Given the description of an element on the screen output the (x, y) to click on. 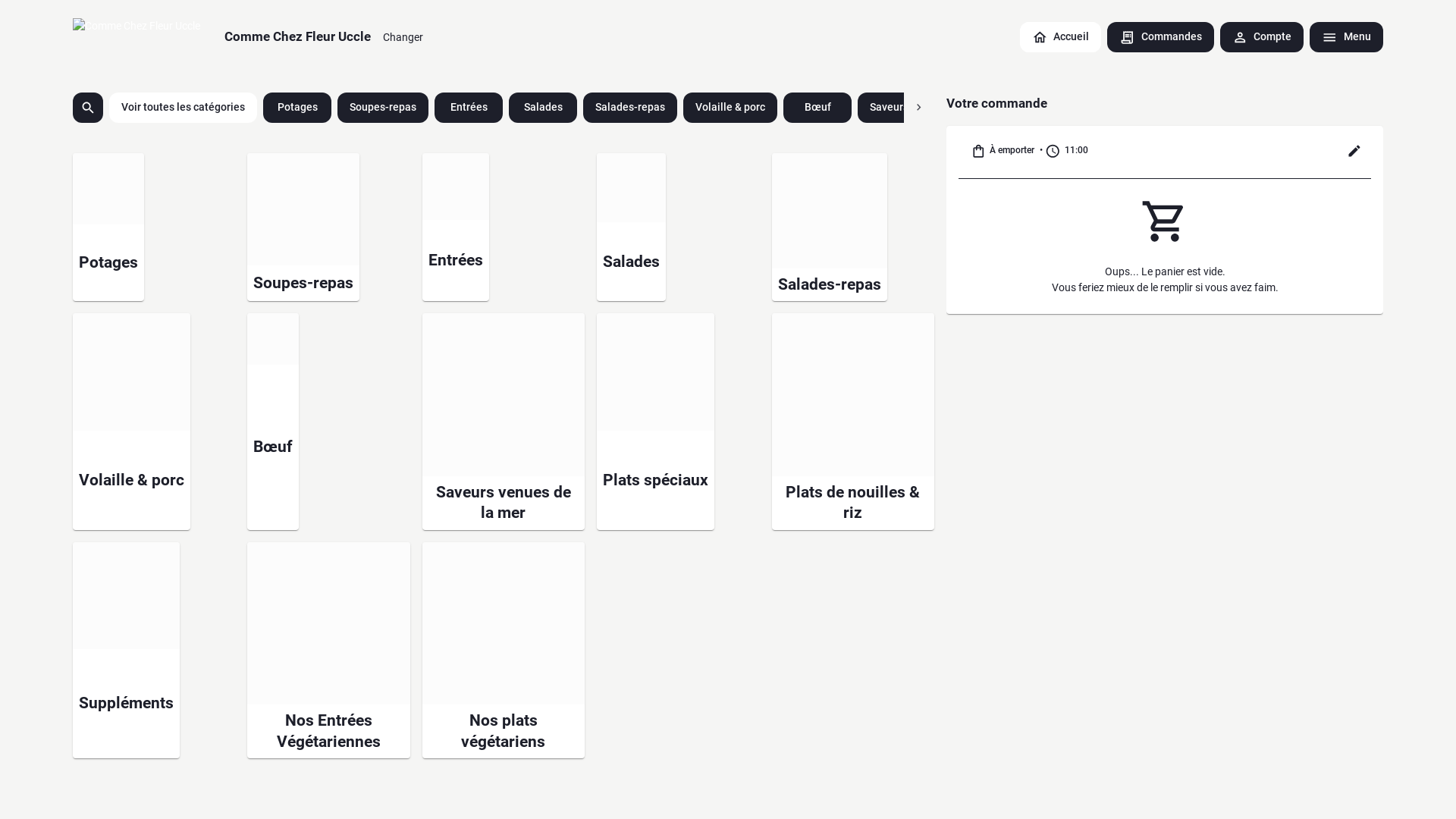
Plats de nouilles & riz Element type: text (852, 421)
Compte Element type: text (1262, 36)
pickup Element type: text (552, 338)
Saveurs venues de la mer Element type: text (930, 107)
delivery Element type: text (616, 338)
Plats de nouilles & riz Element type: text (1175, 107)
Salades-repas Element type: text (630, 107)
Accueil Element type: text (1060, 36)
Volaille & porc Element type: text (131, 421)
Changer Element type: text (402, 37)
Potages Element type: text (297, 107)
Soupes-repas Element type: text (303, 227)
asap Element type: text (553, 460)
Soupes-repas Element type: text (382, 107)
tomorrow Element type: text (613, 419)
Salades Element type: text (630, 227)
today Element type: text (553, 419)
pick Element type: text (646, 460)
Volaille & porc Element type: text (730, 107)
Menu Element type: text (1346, 36)
Commandes Element type: text (1160, 36)
pick Element type: text (682, 419)
Potages Element type: text (108, 227)
Salades-repas Element type: text (829, 227)
Saveurs venues de la mer Element type: text (503, 421)
Salades Element type: text (542, 107)
